Given the description of an element on the screen output the (x, y) to click on. 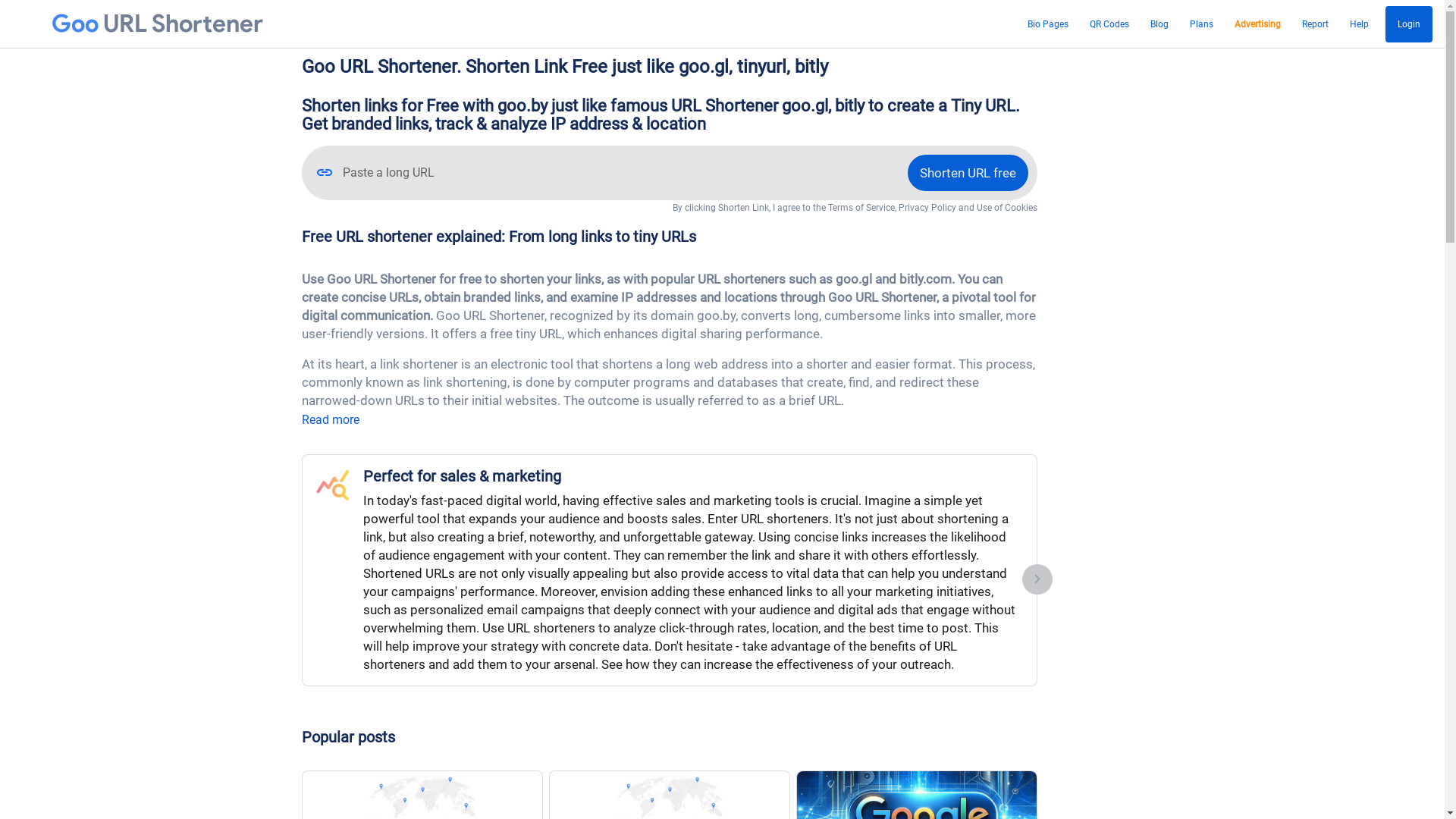
Blog Element type: text (1159, 24)
QR Codes Element type: text (1109, 24)
Bio Pages Element type: text (1047, 24)
Advertising Element type: text (1257, 24)
Shorten URL free Element type: text (966, 172)
Help Element type: text (1359, 24)
Login Element type: text (1408, 24)
Read more Element type: text (330, 419)
Report Element type: text (1315, 24)
Plans Element type: text (1201, 24)
